Given the description of an element on the screen output the (x, y) to click on. 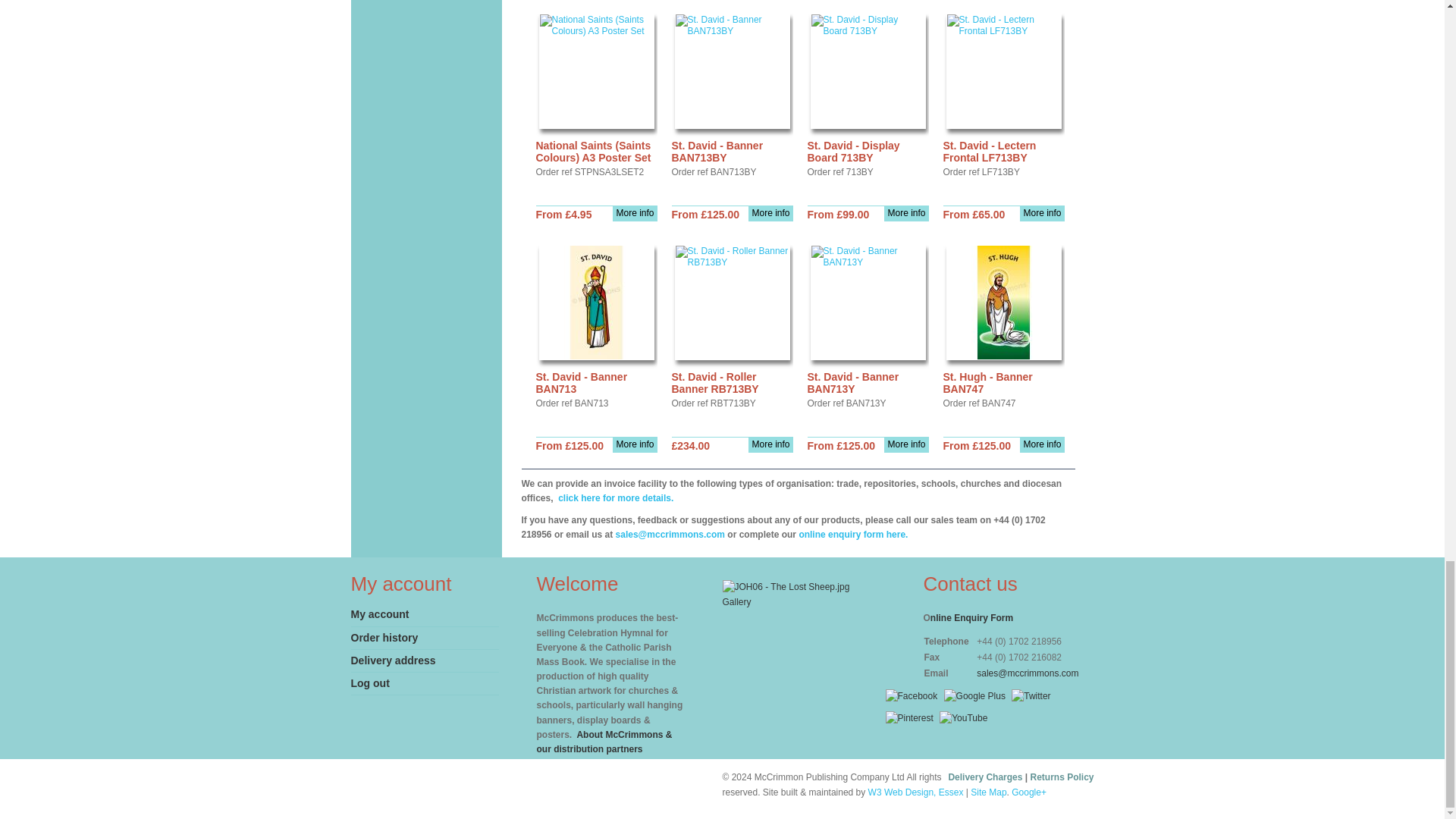
JOH06 - The Lost Sheep.jpg (785, 586)
